Given the description of an element on the screen output the (x, y) to click on. 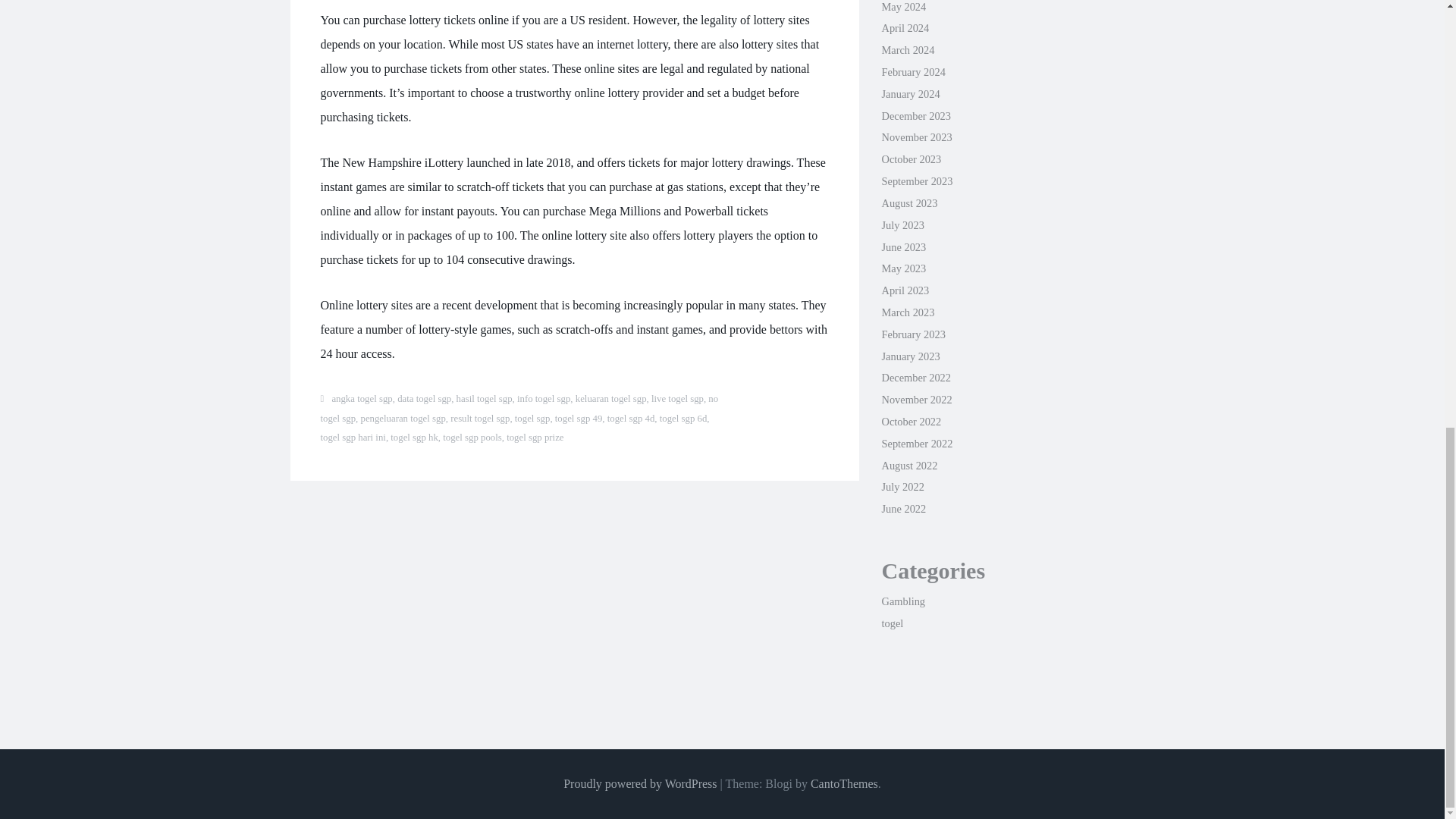
May 2024 (903, 6)
February 2024 (912, 71)
togel sgp hari ini (352, 437)
April 2024 (904, 28)
info togel sgp (543, 398)
live togel sgp (676, 398)
no togel sgp (518, 408)
keluaran togel sgp (610, 398)
angka togel sgp (361, 398)
togel sgp hk (414, 437)
pengeluaran togel sgp (402, 418)
hasil togel sgp (484, 398)
togel sgp (532, 418)
togel sgp pools (472, 437)
result togel sgp (479, 418)
